Given the description of an element on the screen output the (x, y) to click on. 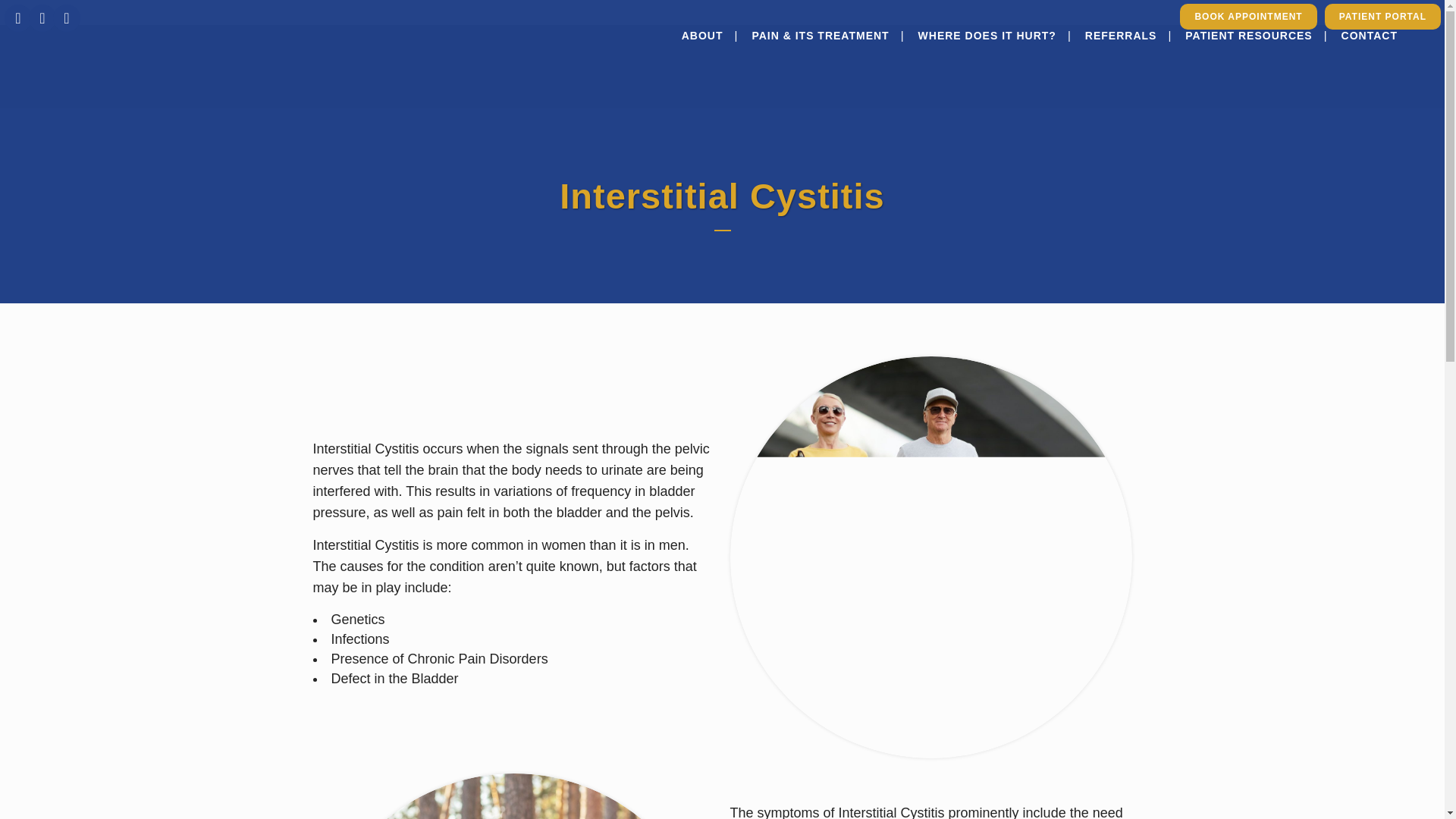
Multiracial group of hikers walking by forest (513, 796)
BOOK APPOINTMENT (1247, 16)
PATIENT PORTAL (1382, 16)
ABOUT (702, 35)
